Given the description of an element on the screen output the (x, y) to click on. 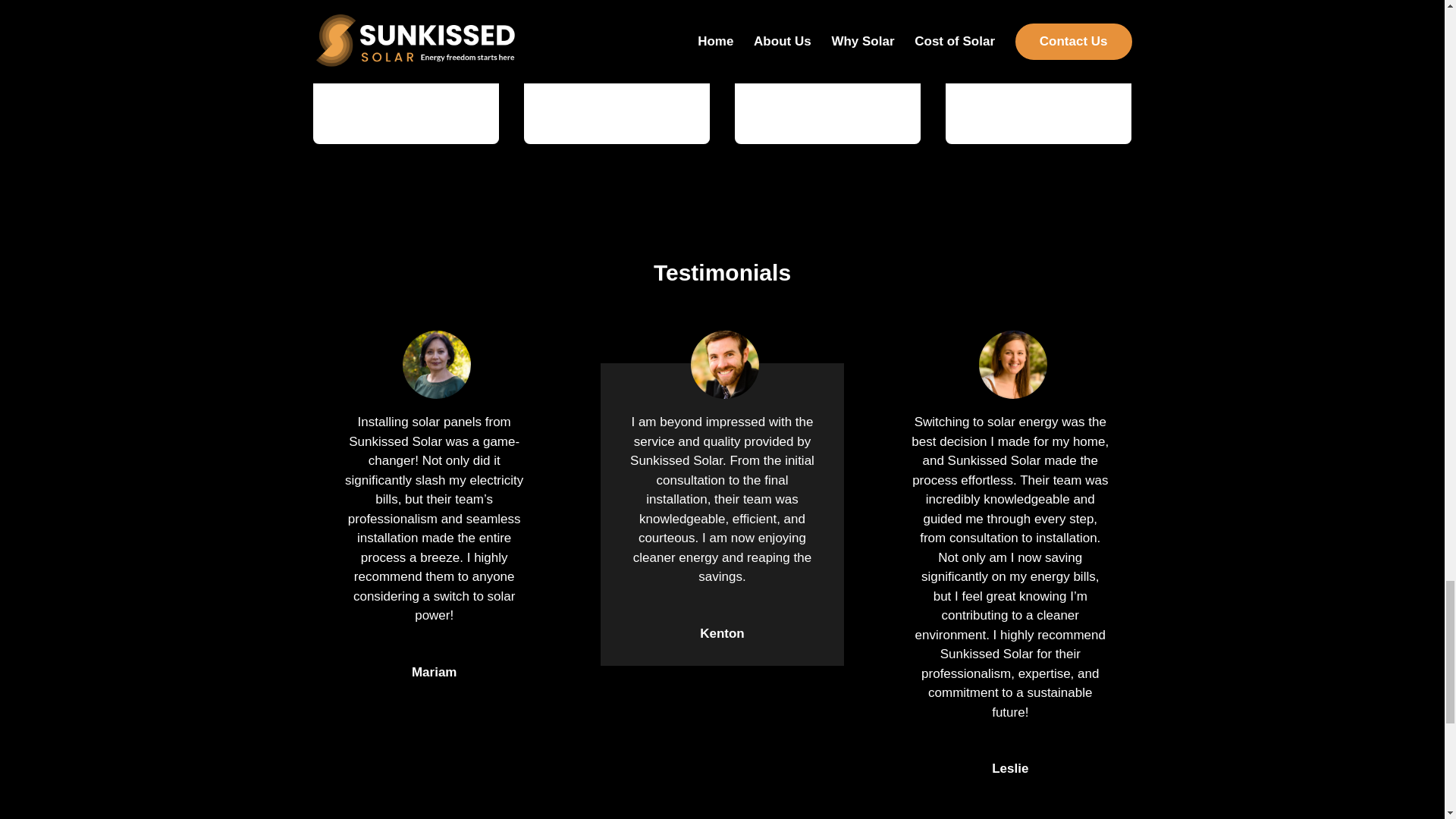
1x (406, 104)
2x copy (617, 104)
4 (1038, 104)
3 (828, 104)
